Given the description of an element on the screen output the (x, y) to click on. 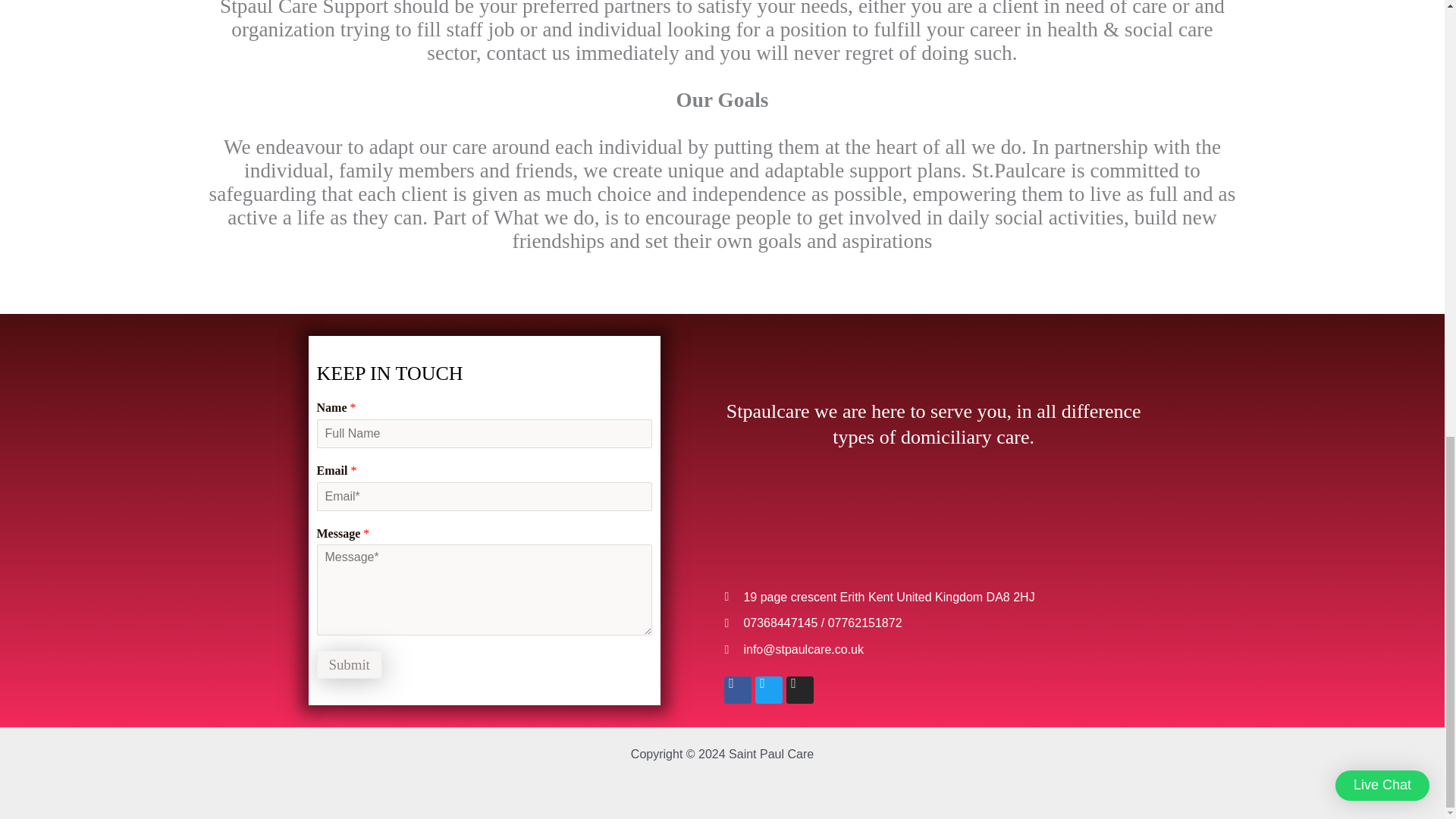
Twitter (769, 689)
19 page crescent Erith Kent United Kingdom DA8 2HJ (932, 597)
Submit (349, 664)
Facebook (737, 689)
Instagram (799, 689)
